Given the description of an element on the screen output the (x, y) to click on. 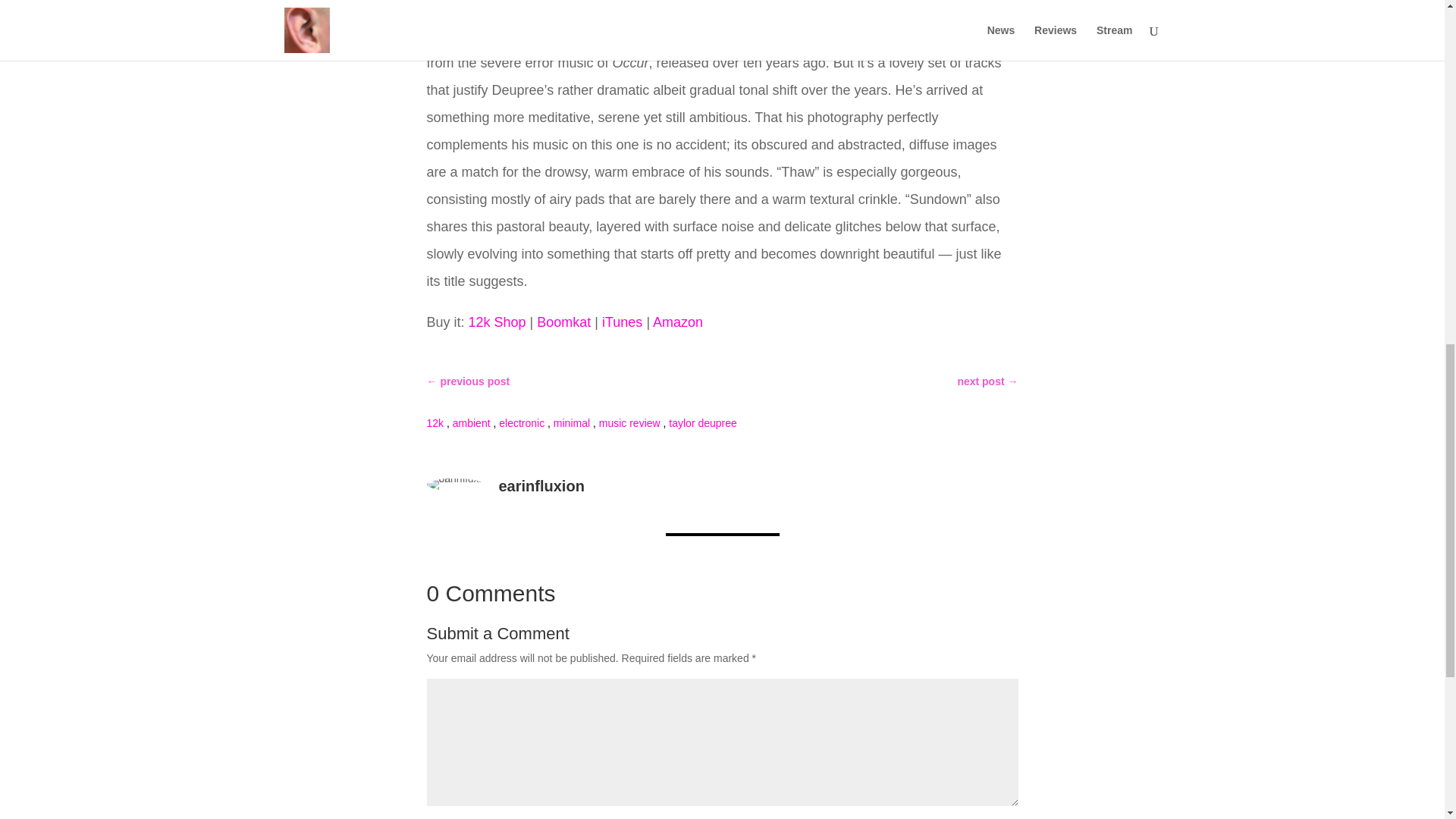
iTunes (622, 322)
ambient (471, 422)
music review (629, 422)
taylor deupree (702, 422)
minimal (571, 422)
12k (435, 422)
12k Shop (496, 322)
Amazon (677, 322)
electronic (521, 422)
Boomkat (564, 322)
